Given the description of an element on the screen output the (x, y) to click on. 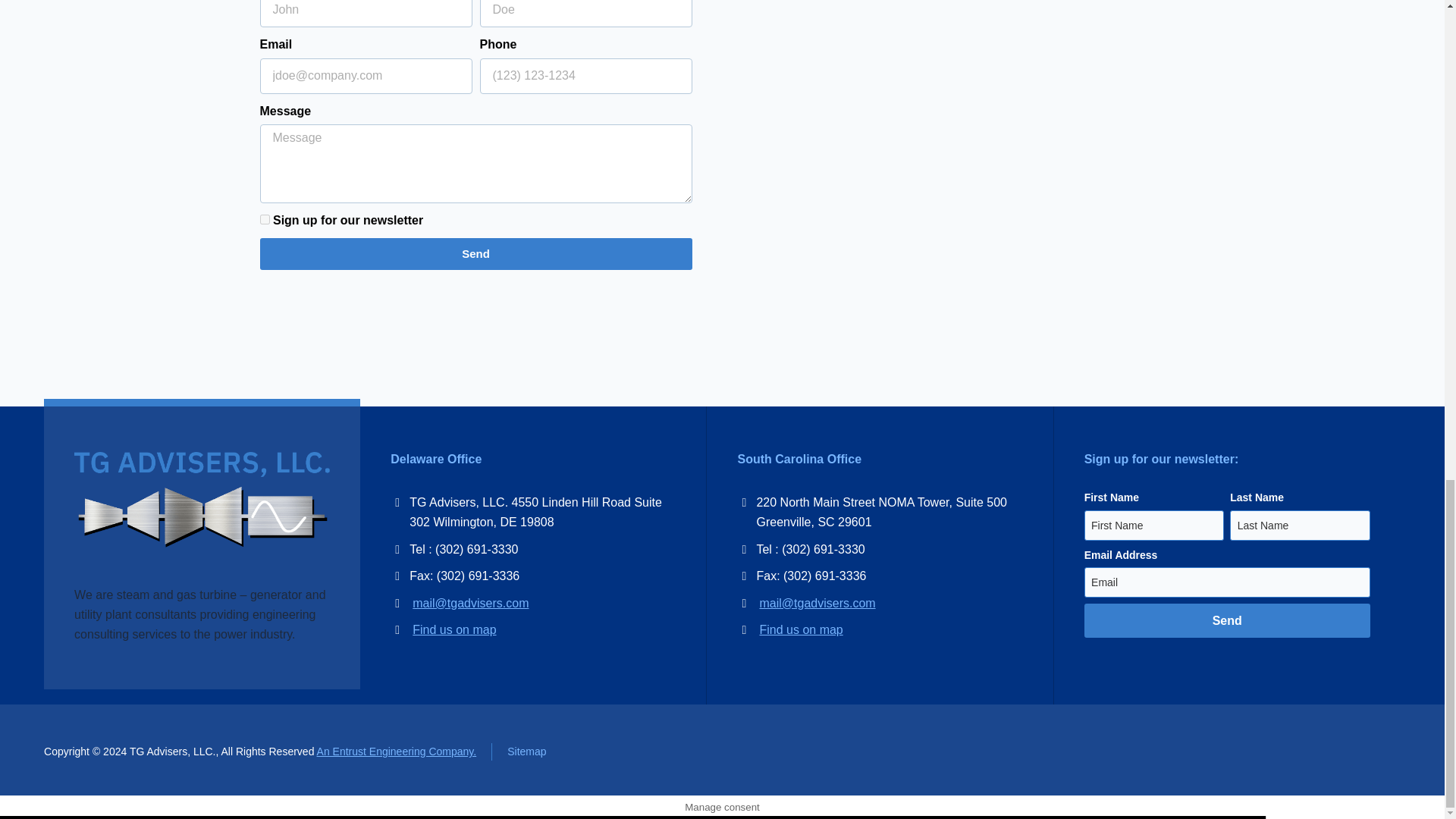
Find us on map (800, 629)
Find us on map (454, 629)
Sign up for our newsletter (264, 219)
